Given the description of an element on the screen output the (x, y) to click on. 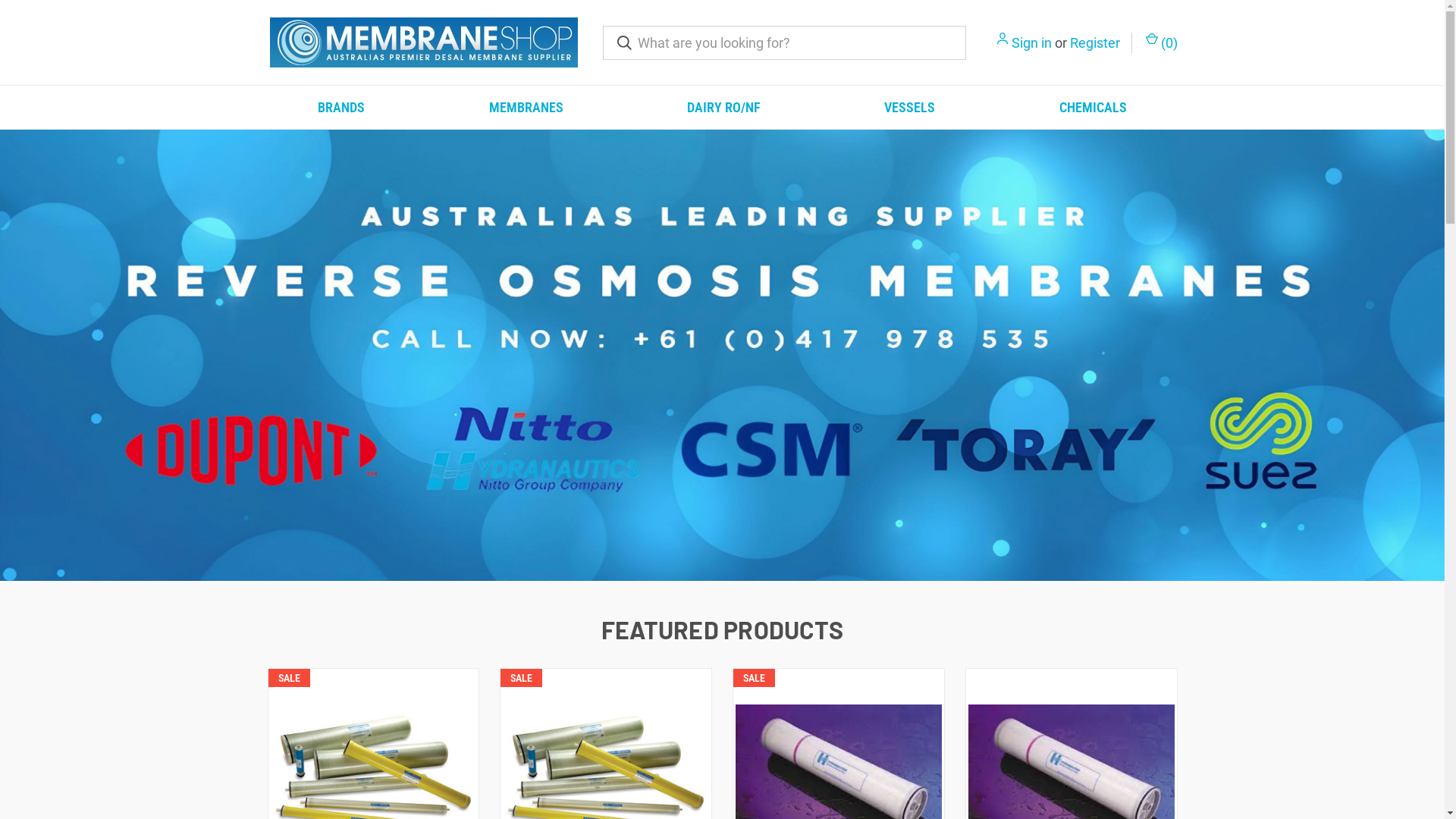
CHEMICALS Element type: text (1092, 106)
VESSELS Element type: text (909, 106)
MEMBRANES Element type: text (525, 106)
Sign in Element type: text (1031, 41)
Membrane Shop Element type: hover (423, 42)
Register Element type: text (1094, 41)
(0) Element type: text (1160, 41)
BRANDS Element type: text (341, 106)
DAIRY RO/NF Element type: text (723, 106)
